Given the description of an element on the screen output the (x, y) to click on. 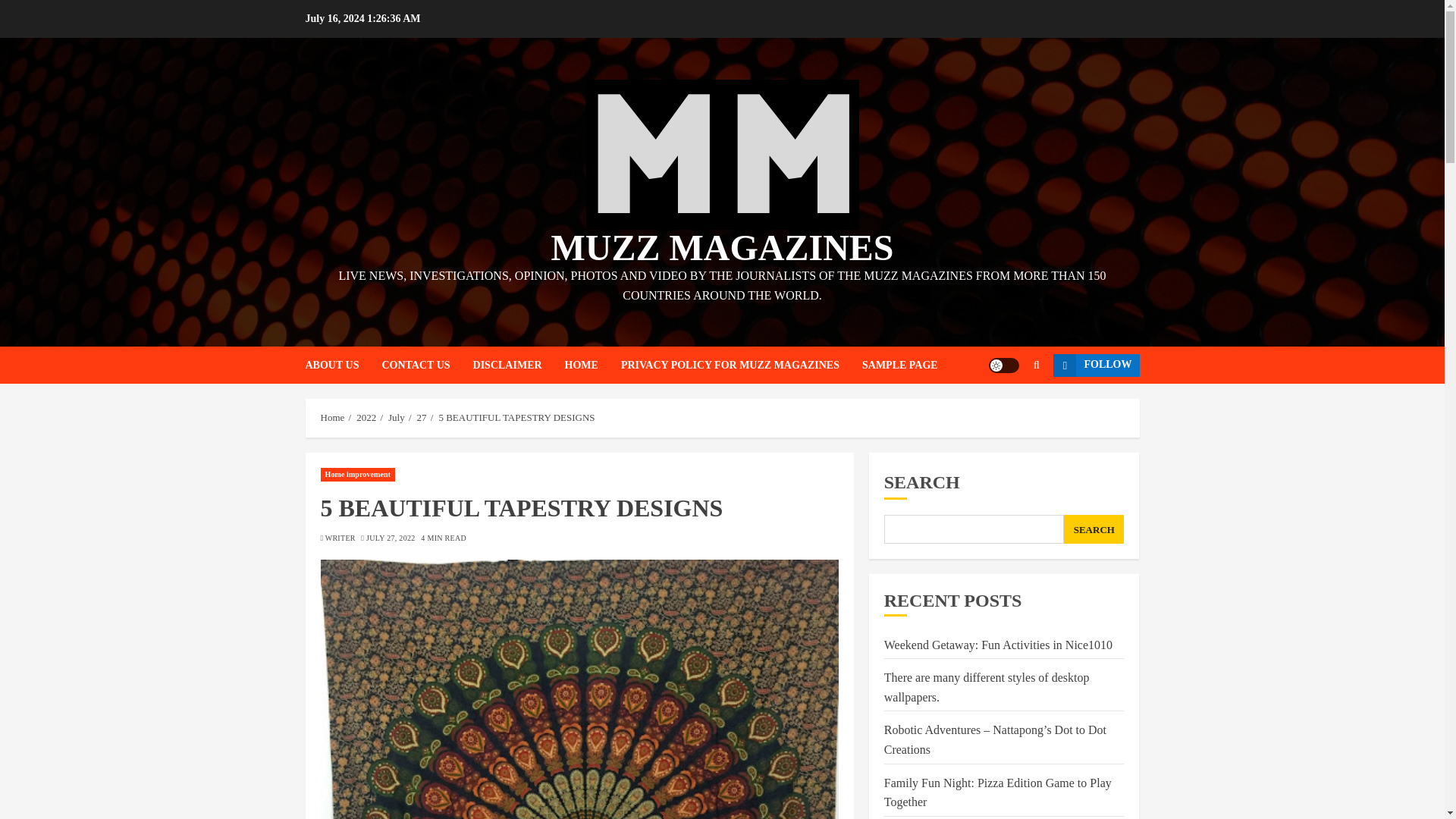
HOME (592, 365)
July (396, 417)
MUZZ MAGAZINES (721, 247)
Home (331, 417)
PRIVACY POLICY FOR MUZZ MAGAZINES (741, 365)
ABOUT US (342, 365)
SAMPLE PAGE (899, 365)
5 BEAUTIFUL TAPESTRY DESIGNS (516, 417)
CONTACT US (426, 365)
2022 (365, 417)
Search (1006, 410)
FOLLOW (1095, 364)
Home improvement (357, 474)
WRITER (339, 538)
JULY 27, 2022 (390, 538)
